Given the description of an element on the screen output the (x, y) to click on. 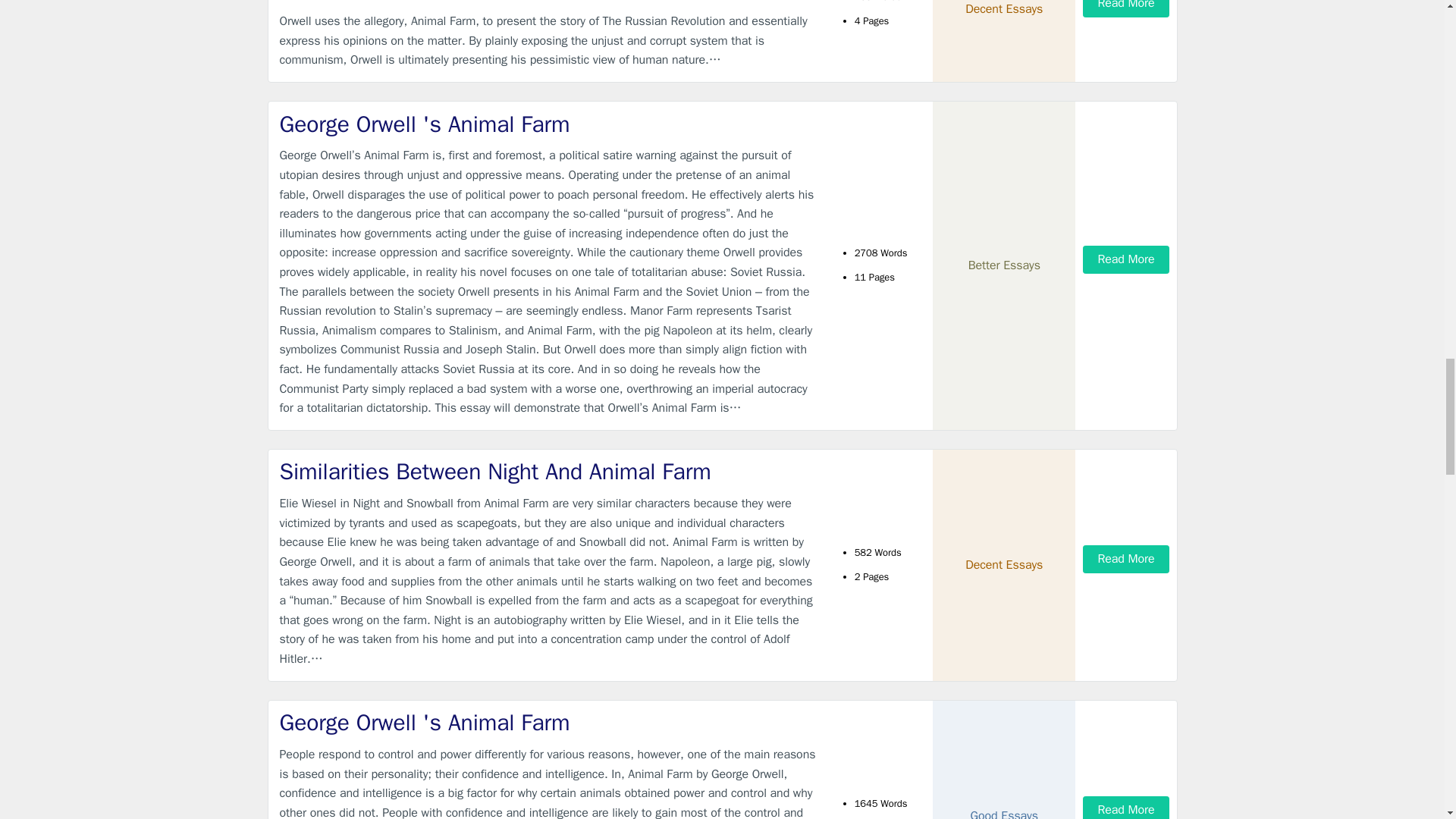
Similarities Between Night And Animal Farm (548, 471)
Read More (1126, 559)
Read More (1126, 8)
Read More (1126, 259)
George Orwell 's Animal Farm (548, 124)
George Orwell 's Animal Farm (548, 722)
Read More (1126, 807)
